Given the description of an element on the screen output the (x, y) to click on. 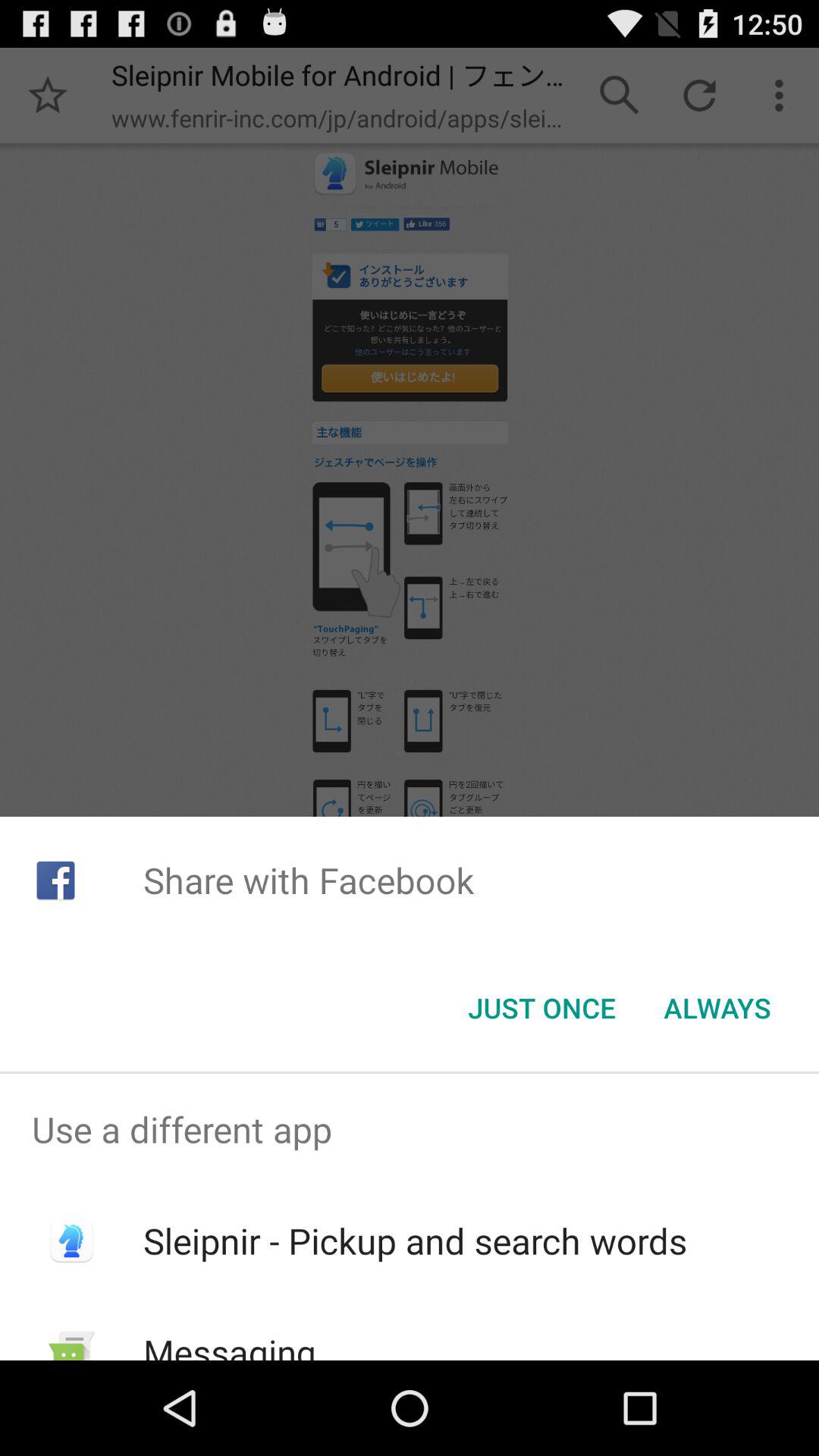
click the button to the right of just once item (717, 1007)
